Given the description of an element on the screen output the (x, y) to click on. 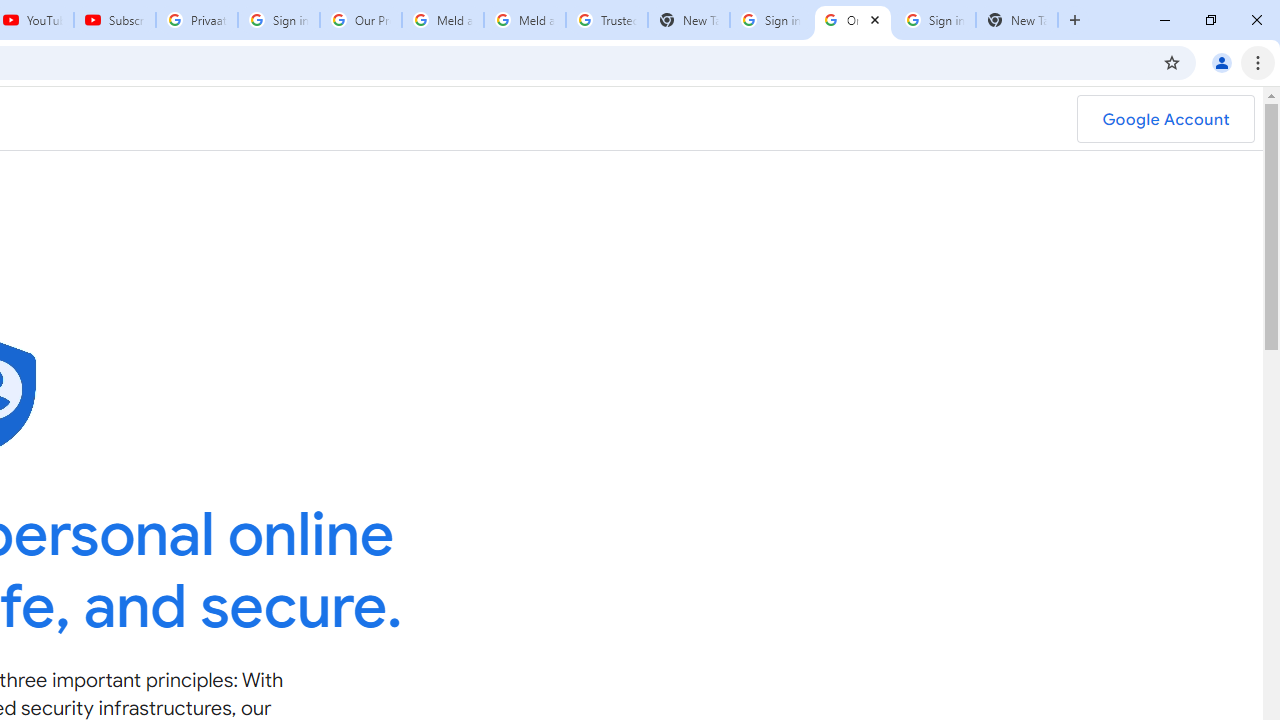
Trusted Information and Content - Google Safety Center (606, 20)
New Tab (1016, 20)
Sign in - Google Accounts (278, 20)
